Given the description of an element on the screen output the (x, y) to click on. 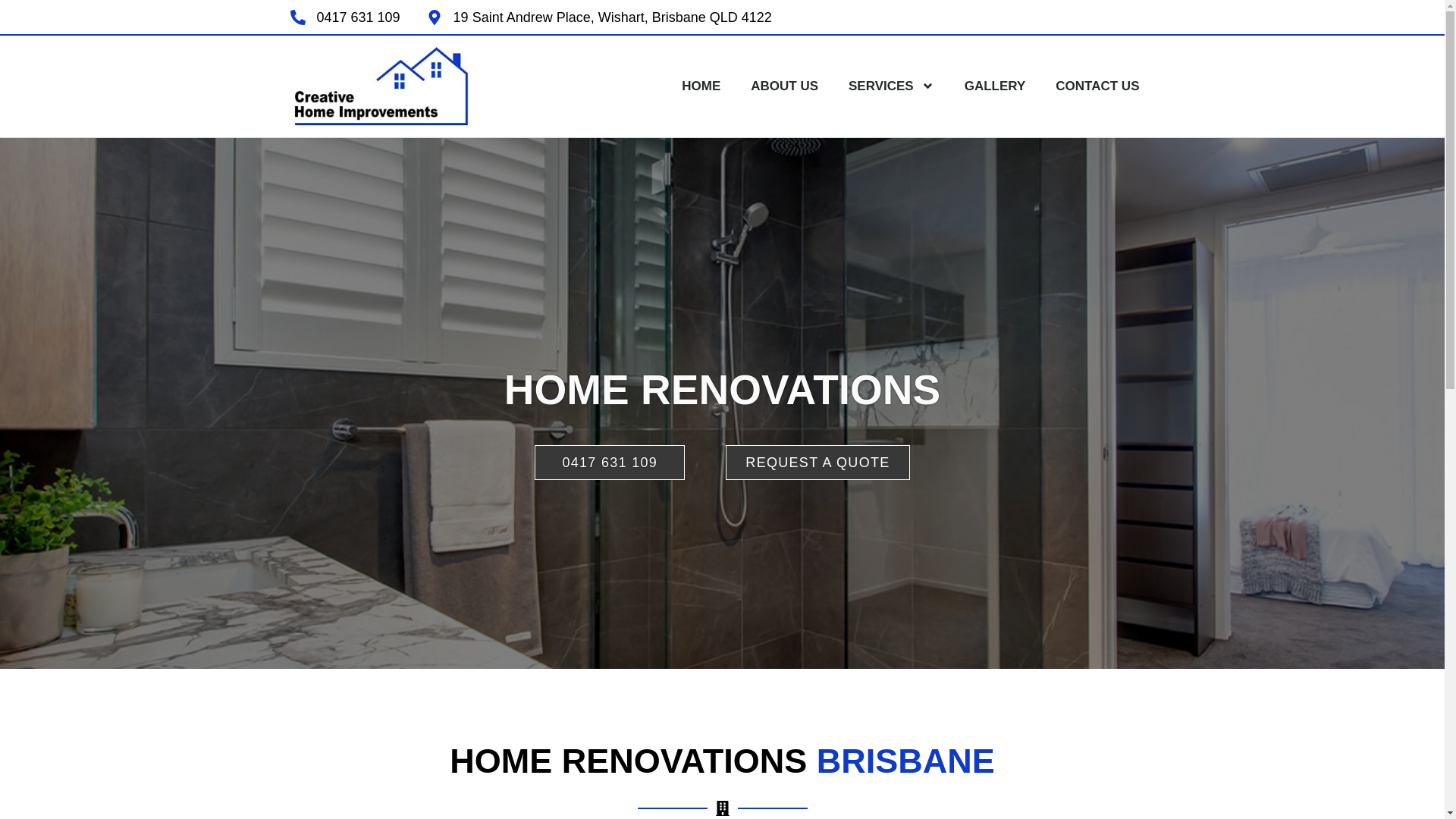
SERVICES Element type: text (891, 86)
HOME Element type: text (700, 86)
0417 631 109 Element type: text (609, 462)
GALLERY Element type: text (995, 86)
ABOUT US Element type: text (784, 86)
0417 631 109 Element type: text (344, 16)
CONTACT US Element type: text (1097, 86)
REQUEST A QUOTE Element type: text (817, 462)
